Given the description of an element on the screen output the (x, y) to click on. 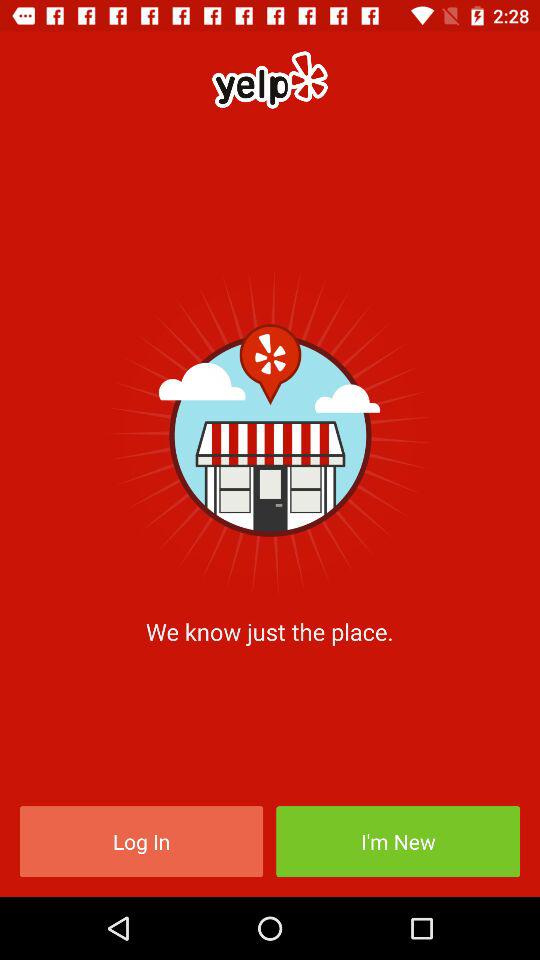
jump until log in (141, 841)
